Given the description of an element on the screen output the (x, y) to click on. 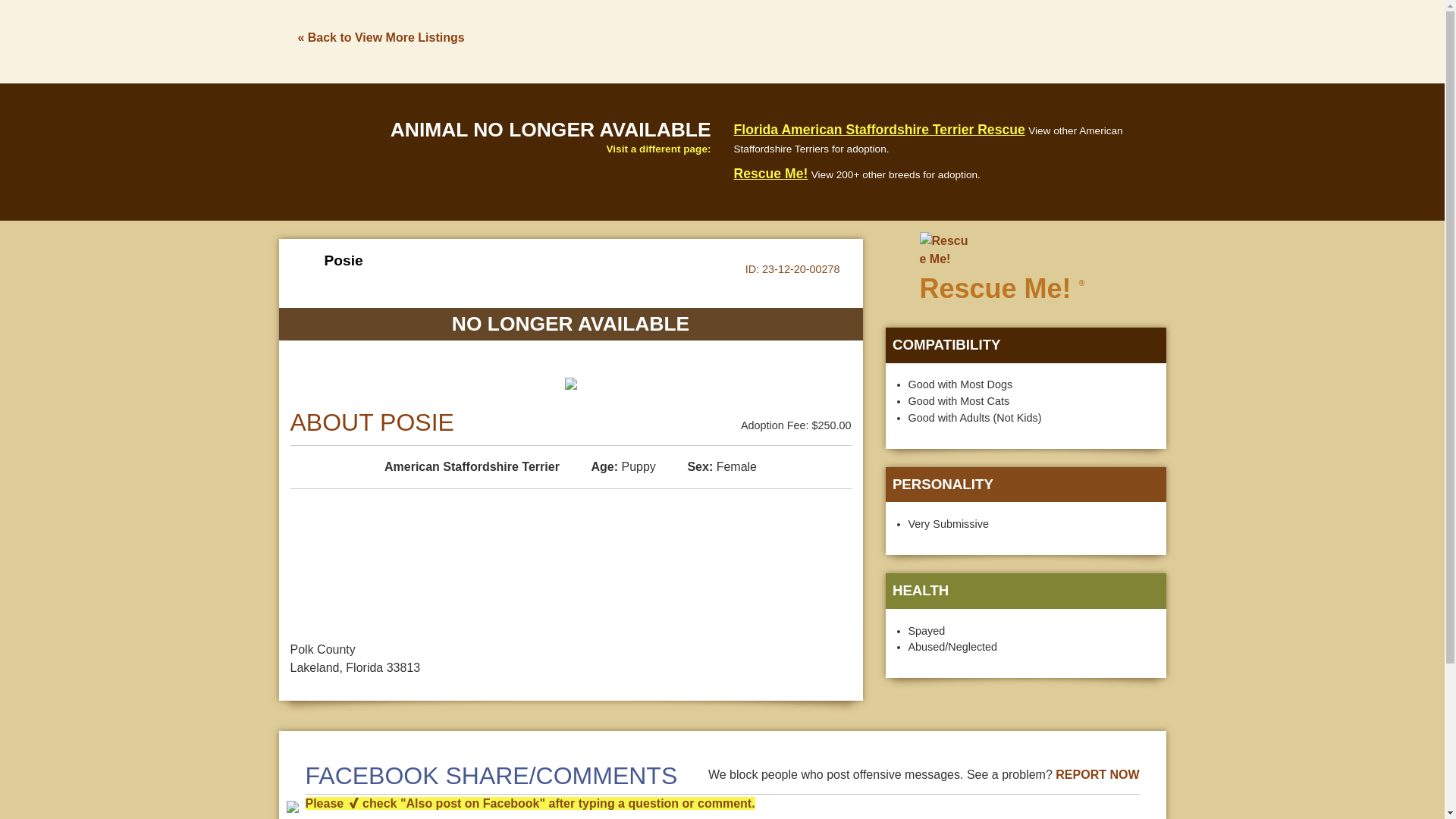
Florida American Staffordshire Terrier Rescue (879, 129)
Rescue Me! (770, 173)
REPORT NOW (1096, 774)
